Given the description of an element on the screen output the (x, y) to click on. 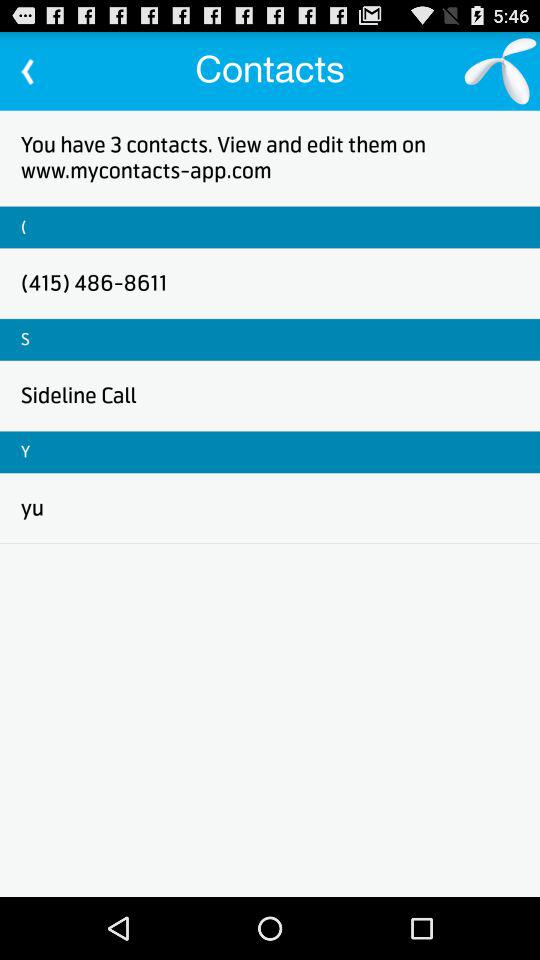
select the icon below sideline call icon (25, 451)
